Given the description of an element on the screen output the (x, y) to click on. 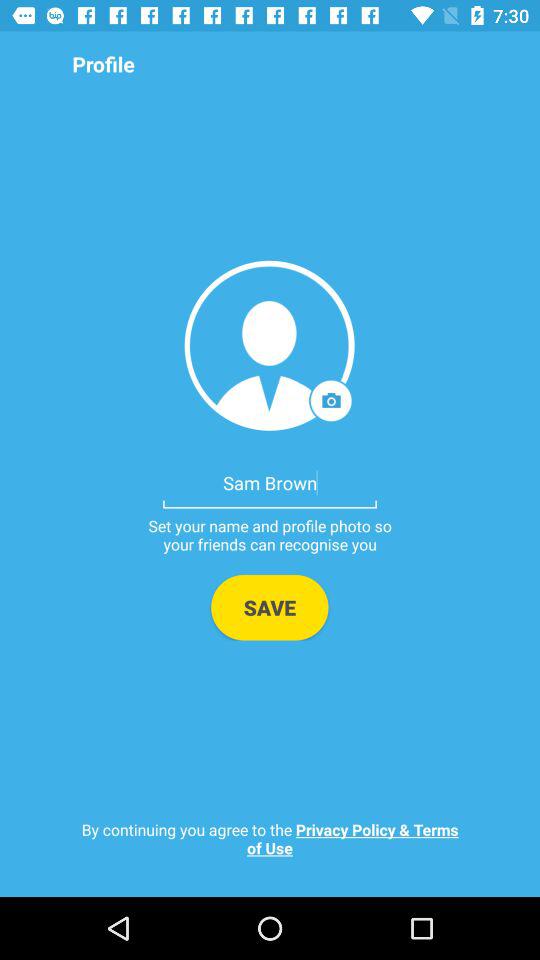
tap the item below set your name item (269, 607)
